Given the description of an element on the screen output the (x, y) to click on. 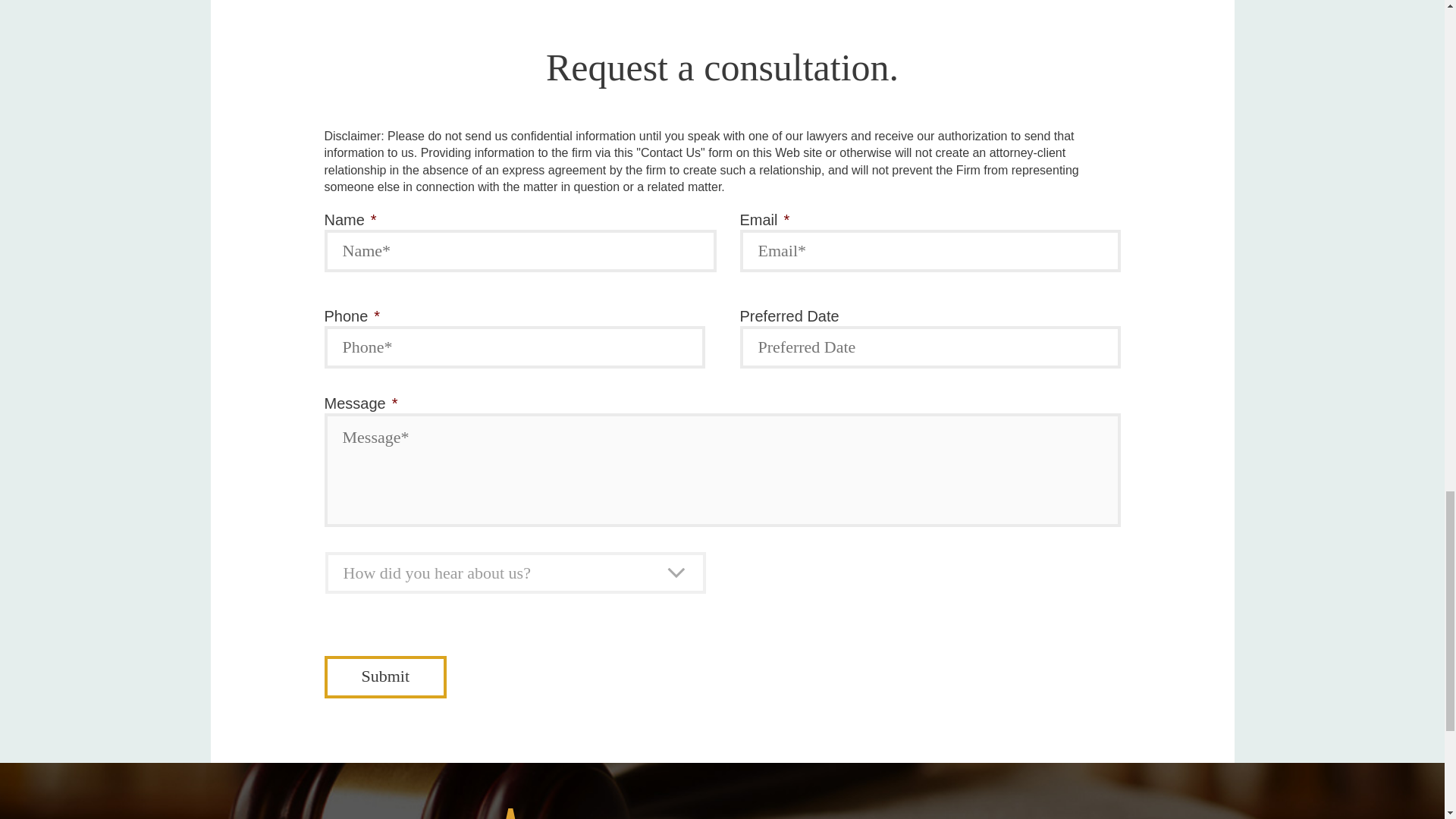
Submit (385, 677)
footer-logo (512, 813)
Submit (385, 677)
